Given the description of an element on the screen output the (x, y) to click on. 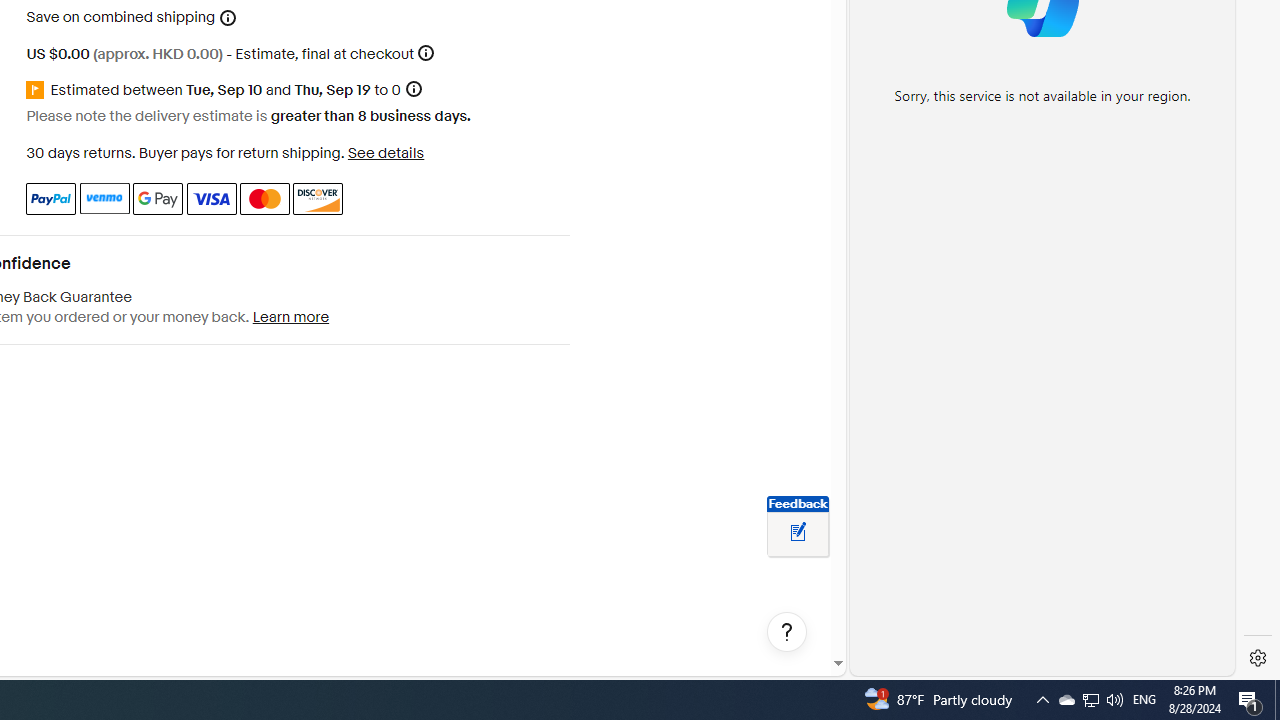
See details - for more information about returns (385, 152)
Venmo (104, 198)
Delivery alert flag (38, 89)
PayPal (50, 198)
Information - Estimated delivery date - opens a layer (413, 89)
Master Card (264, 198)
Settings (1258, 658)
Google Pay (158, 198)
Leave feedback about your eBay ViewItem experience (797, 533)
Visa (210, 198)
Help, opens dialogs (787, 632)
More information on Combined Shipping. Opens a layer. (228, 17)
